Given the description of an element on the screen output the (x, y) to click on. 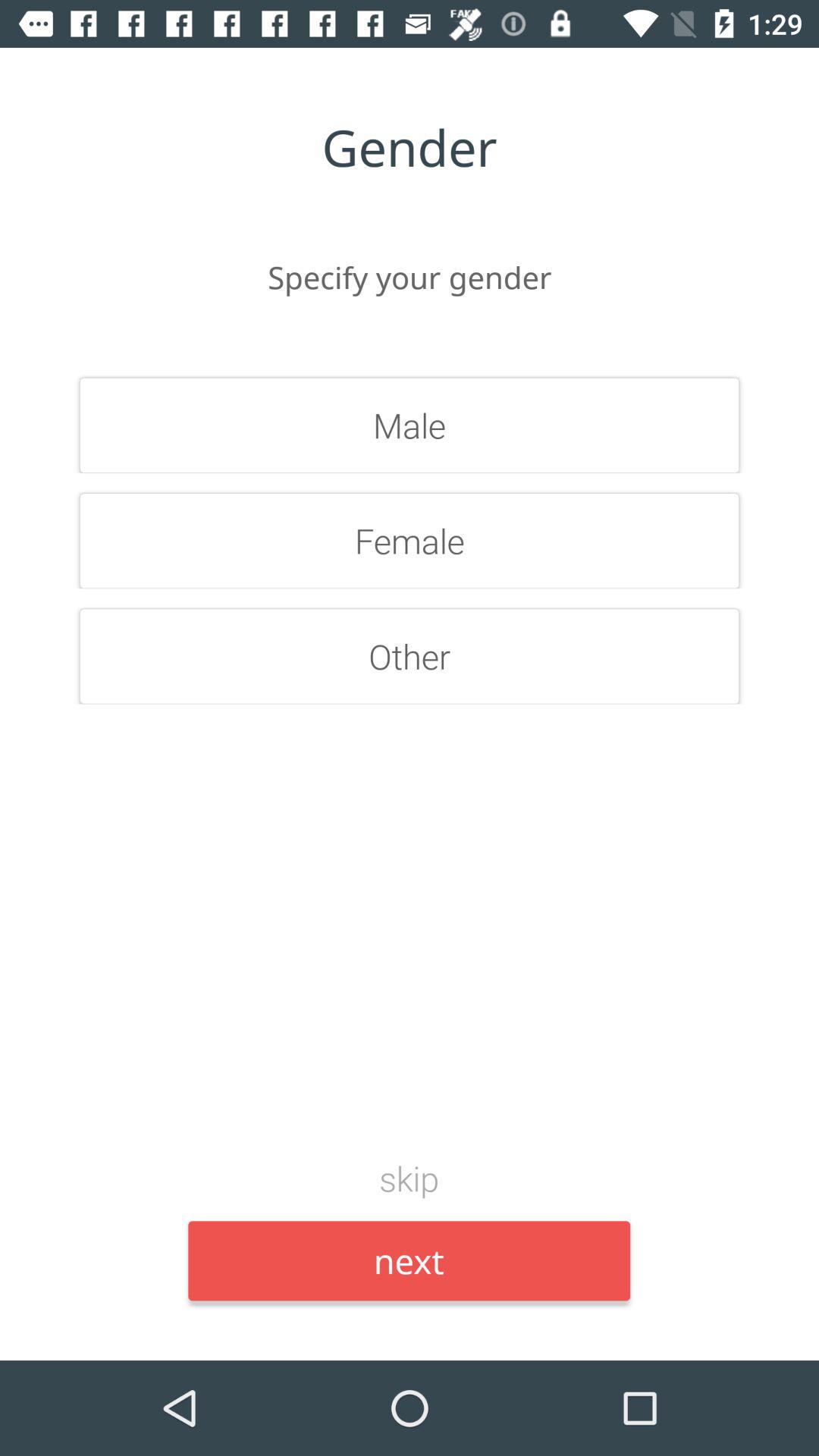
tap the other (409, 656)
